Given the description of an element on the screen output the (x, y) to click on. 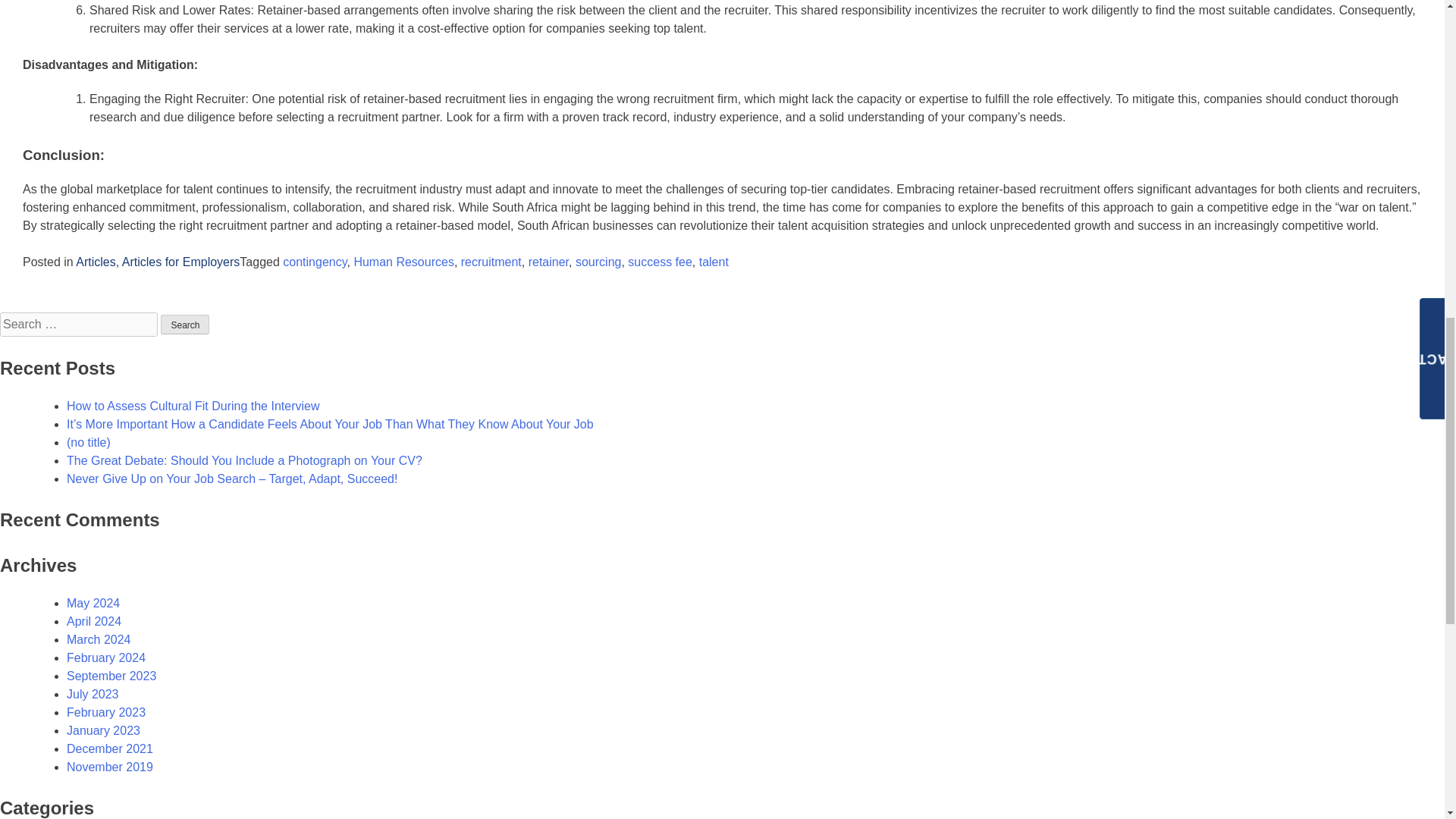
Search (184, 324)
Articles (95, 261)
Search (184, 324)
